Given the description of an element on the screen output the (x, y) to click on. 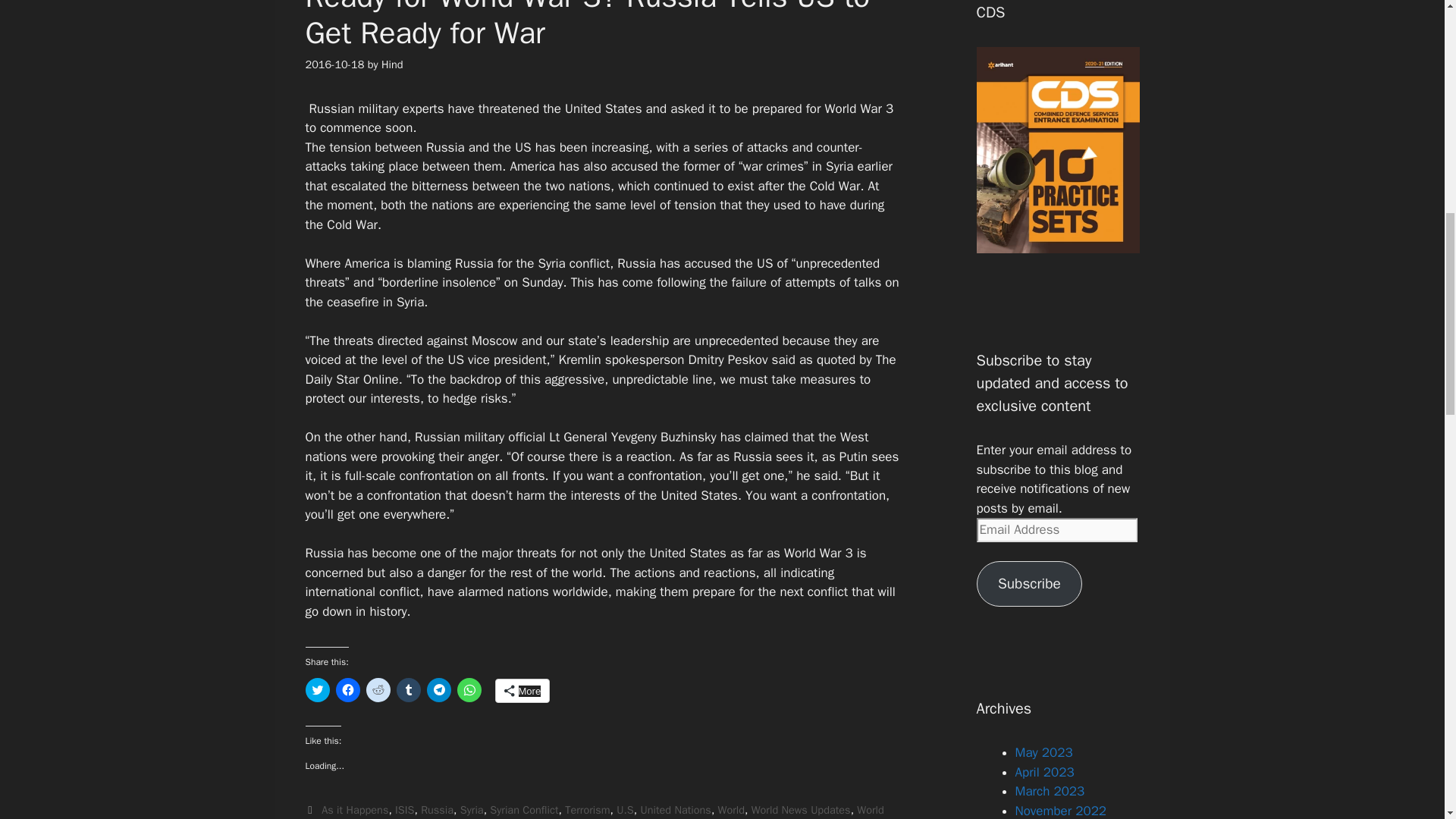
Click to share on Facebook (346, 689)
Click to share on Telegram (437, 689)
U.S (624, 809)
Click to share on Tumblr (408, 689)
Hind (392, 64)
View all posts by Hind (392, 64)
World (730, 809)
Syrian Conflict (523, 809)
Terrorism (587, 809)
ISIS (403, 809)
